Given the description of an element on the screen output the (x, y) to click on. 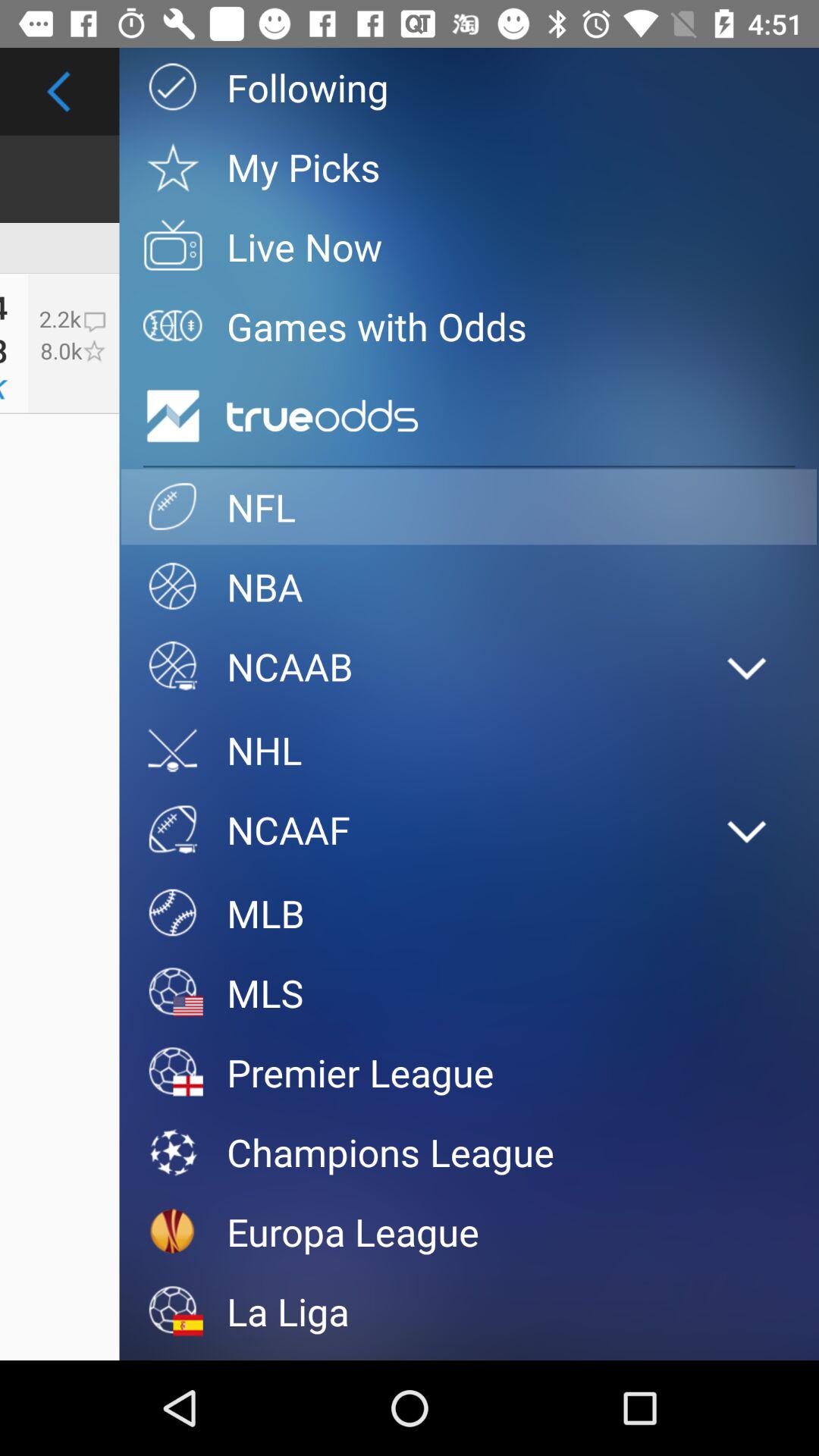
select icon above my picks (469, 87)
